Given the description of an element on the screen output the (x, y) to click on. 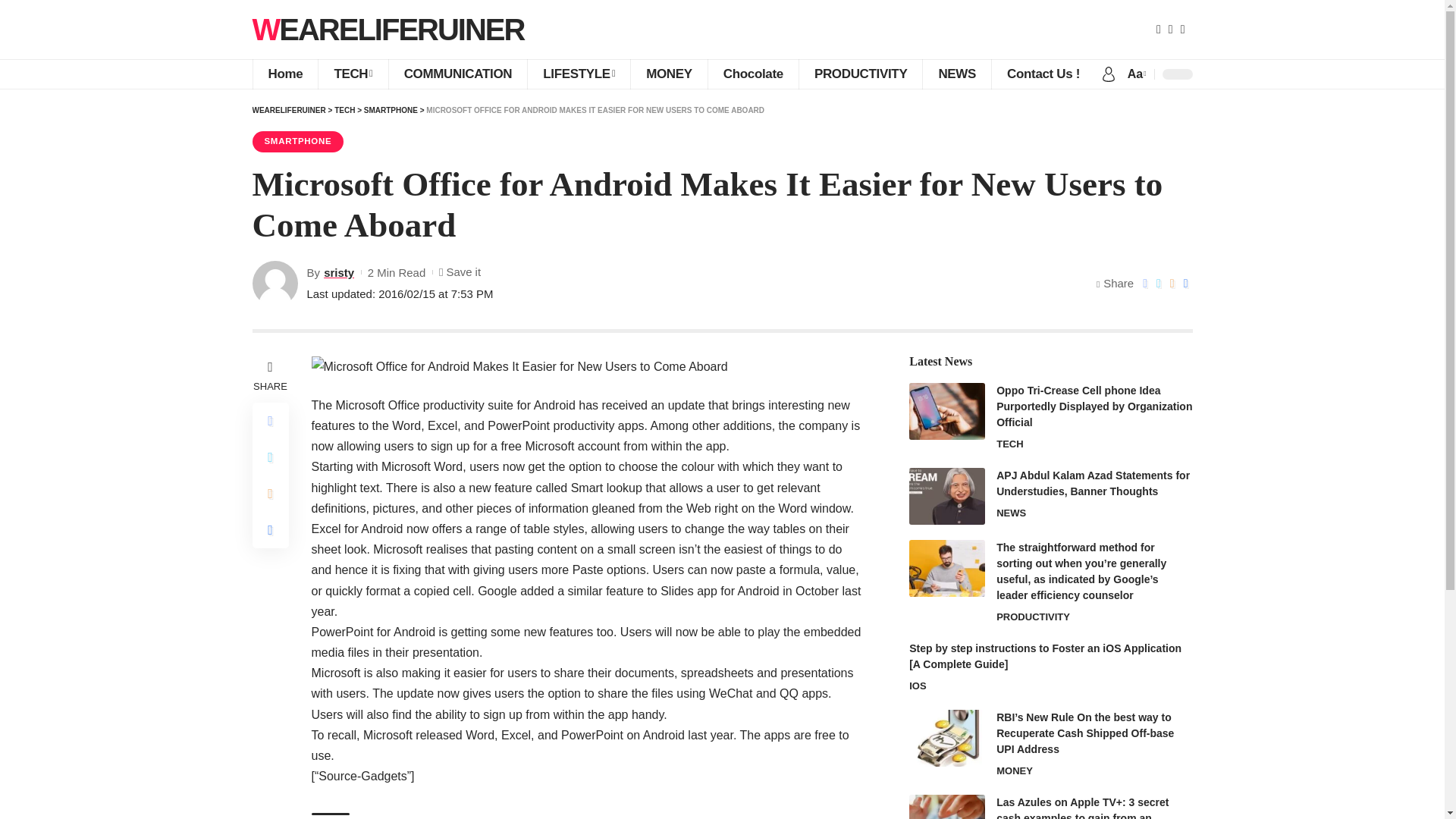
NEWS (956, 73)
PRODUCTIVITY (859, 73)
weareliferuiner (387, 29)
LIFESTYLE (578, 73)
Go to the SMARTPHONE Category archives. (390, 110)
TECH (352, 73)
Home (284, 73)
Chocolate (752, 73)
